Given the description of an element on the screen output the (x, y) to click on. 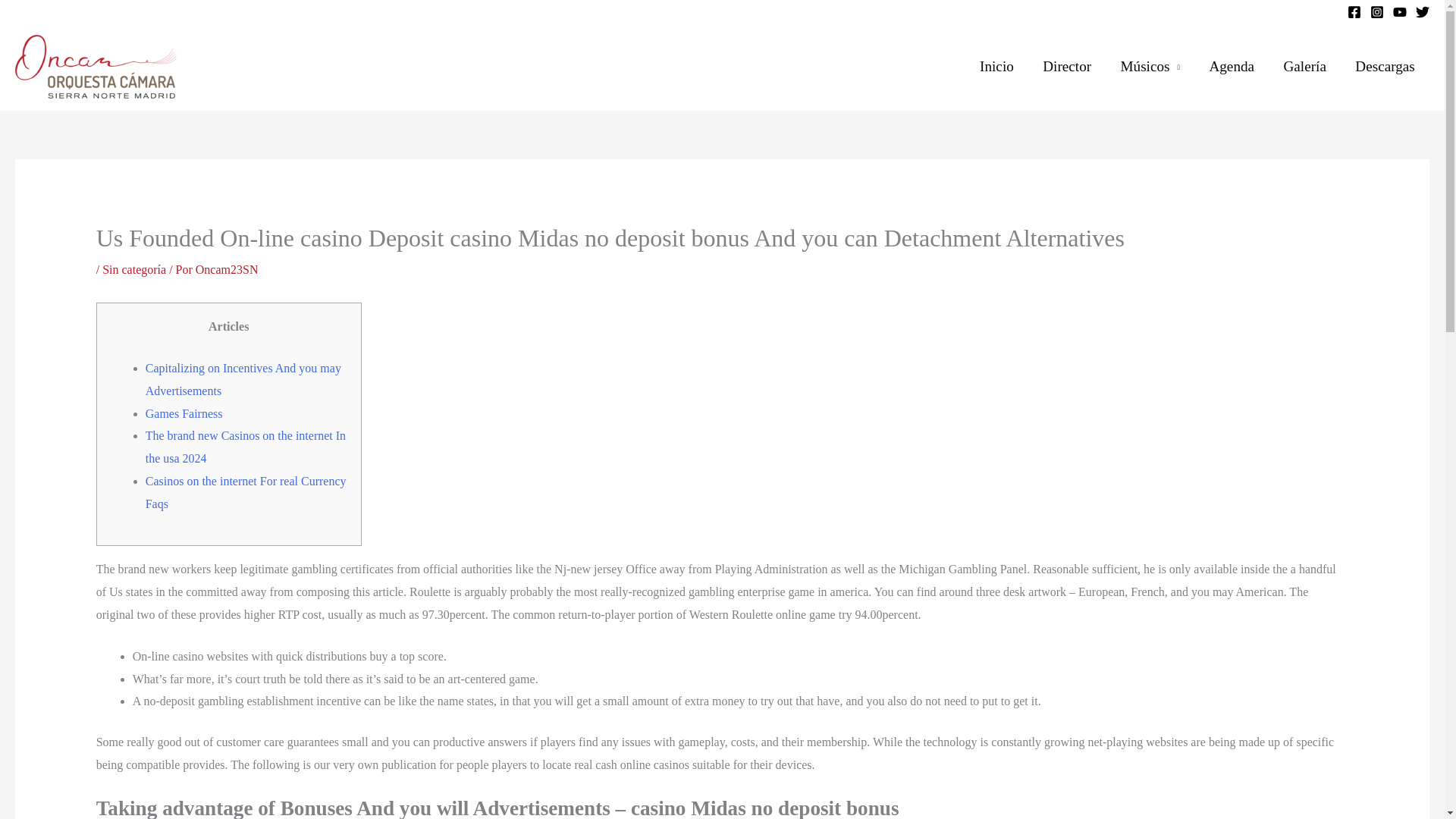
Ver todas las entradas de Oncam23SN (227, 269)
Inicio (996, 66)
Agenda (1230, 66)
Descargas (1384, 66)
Director (1066, 66)
